Given the description of an element on the screen output the (x, y) to click on. 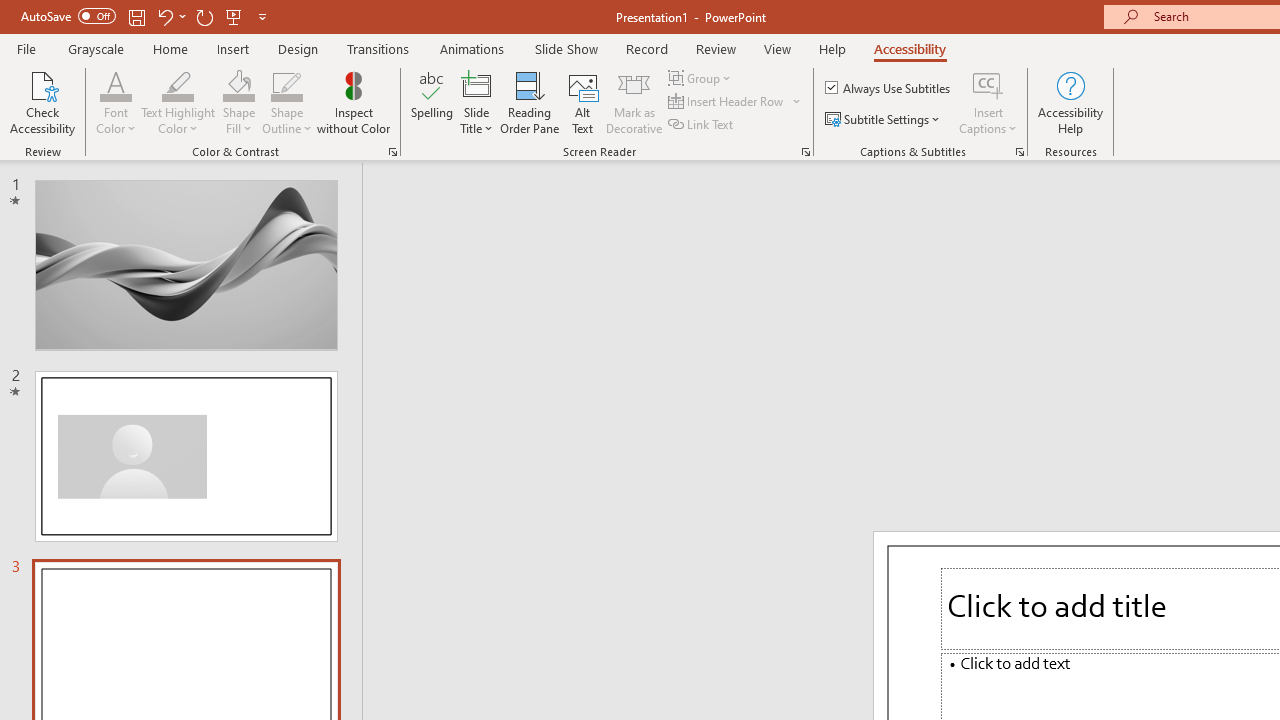
Captions & Subtitles (1019, 151)
